Given the description of an element on the screen output the (x, y) to click on. 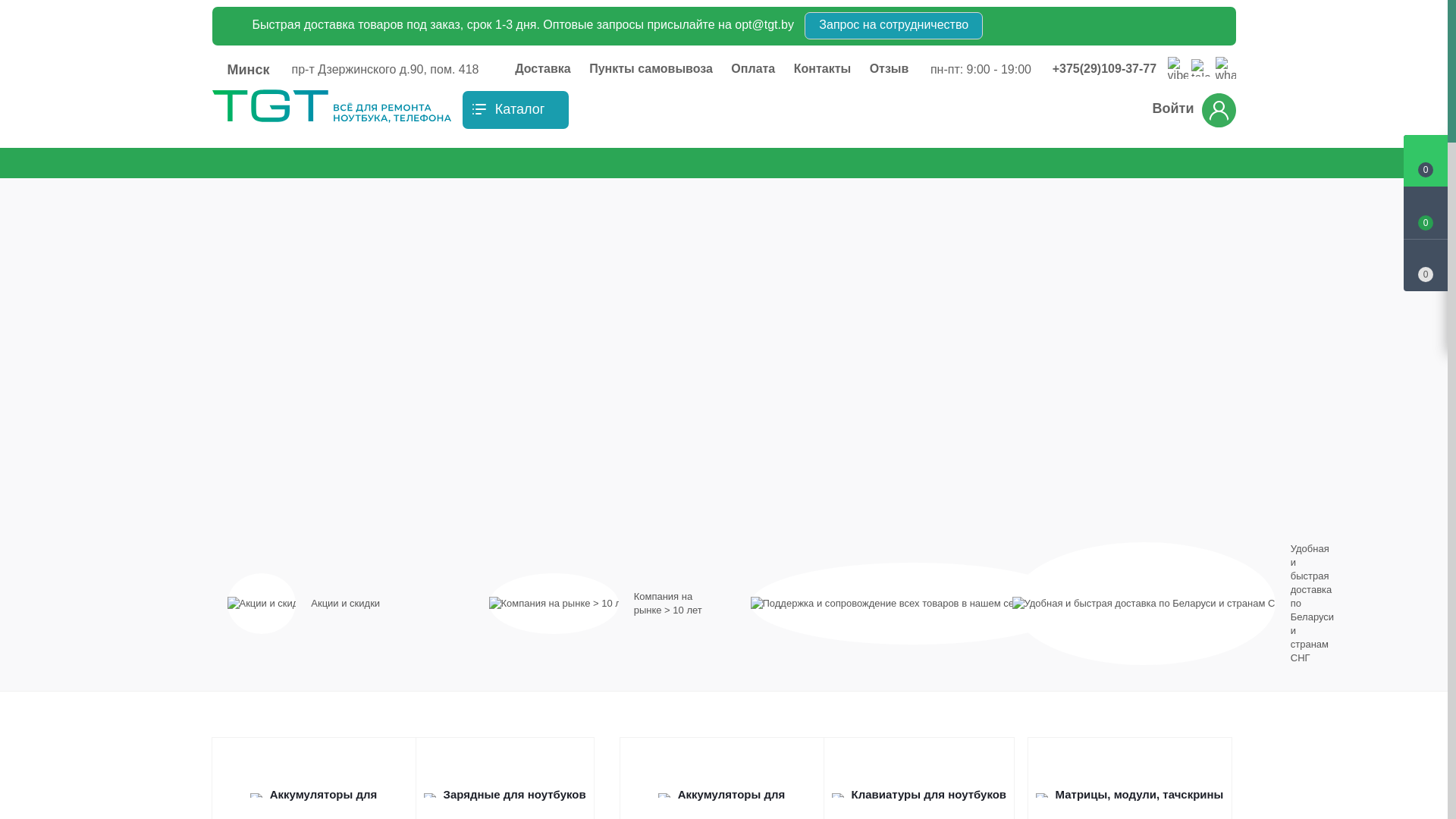
+375(29)109-37-77 Element type: text (1108, 68)
whatsapp Element type: hover (1224, 67)
viber Element type: hover (1177, 67)
opt@tgt.by Element type: text (763, 24)
telegram Element type: hover (1201, 68)
